Given the description of an element on the screen output the (x, y) to click on. 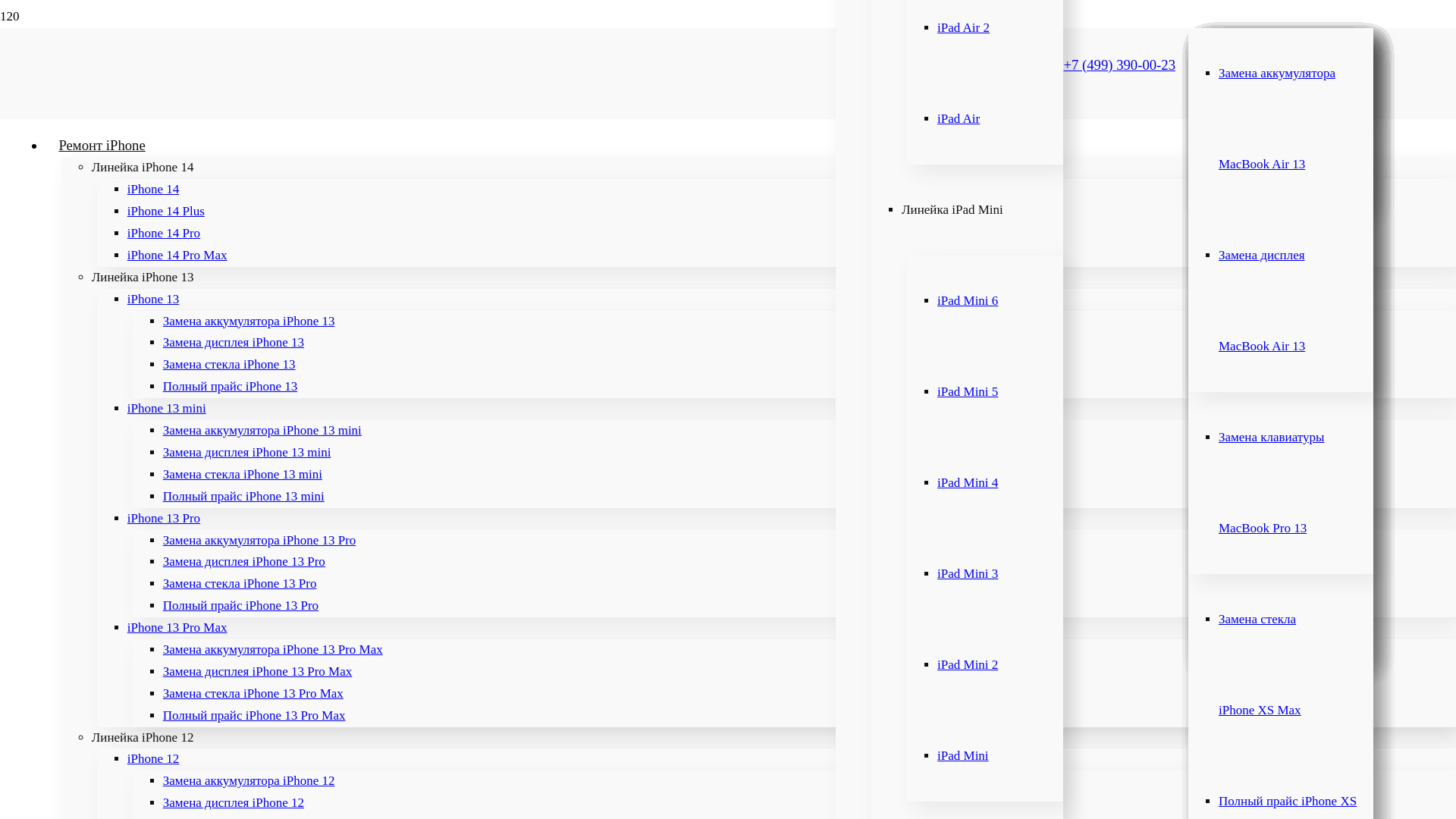
iPhone 13 Pro Element type: text (166, 518)
iPad Mini 2 Element type: text (970, 664)
iPhone 14 Pro Max Element type: text (179, 254)
iPad Mini 5 Element type: text (970, 391)
iPad Mini 3 Element type: text (970, 573)
iPhone 14 Plus Element type: text (168, 210)
iPhone 14 Element type: text (155, 189)
iPhone 13 Element type: text (155, 298)
iPad Mini 4 Element type: text (970, 482)
iPhone 14 Pro Element type: text (166, 232)
iPad Air 2 Element type: text (965, 27)
iPhone 13 mini Element type: text (169, 408)
iPhone 12 Element type: text (155, 758)
iPad Air Element type: text (961, 118)
iPad Mini 6 Element type: text (970, 300)
iPad Mini Element type: text (965, 755)
+7 (499) 390-00-23 Element type: text (1119, 64)
iPhone 13 Pro Max Element type: text (179, 627)
